Given the description of an element on the screen output the (x, y) to click on. 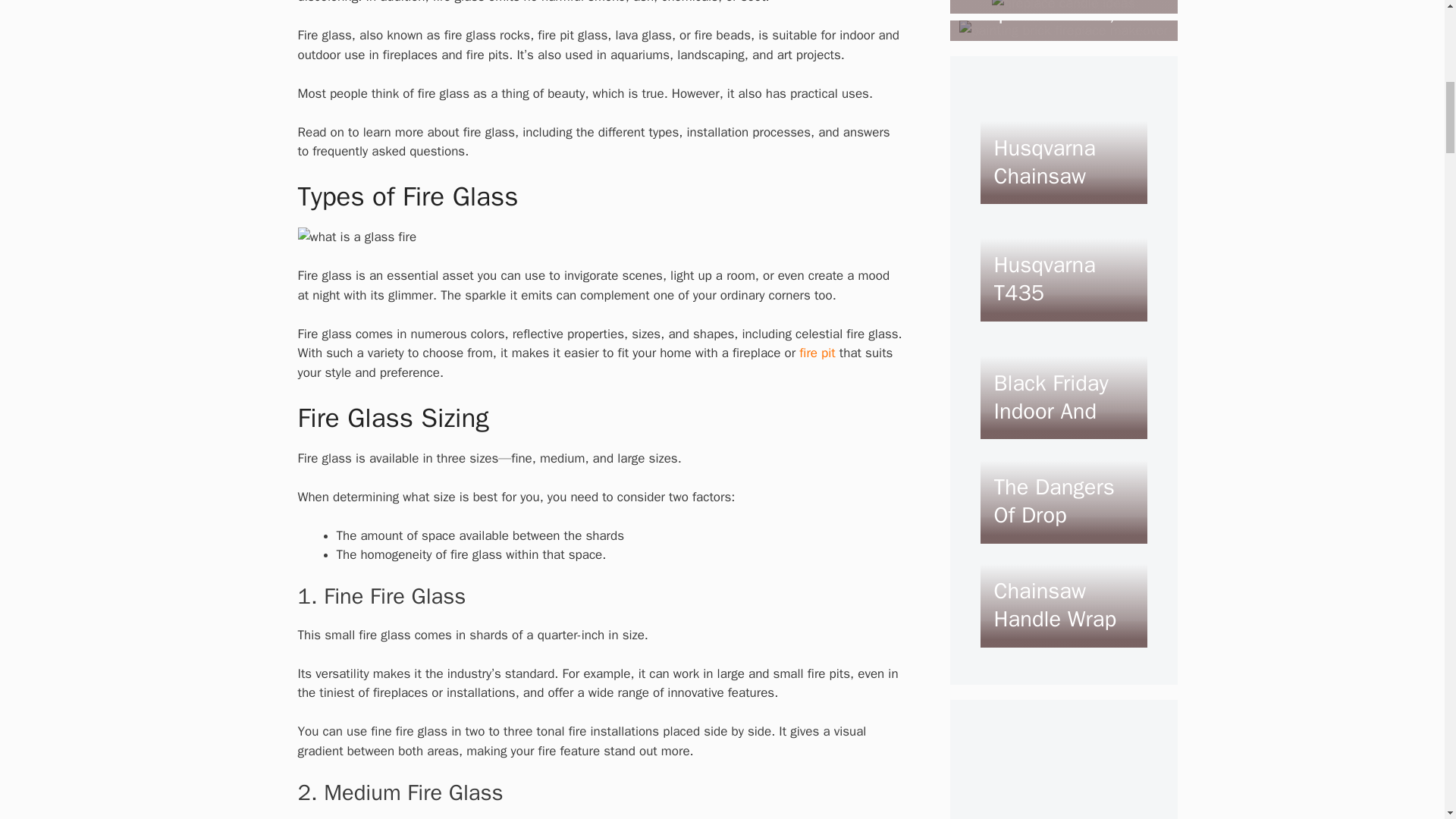
30 Tips for Using Candles Inside and Around Fireplaces (1054, 13)
20 Painted Brick Fireplace Ideas, Tips, and Best Products (1042, 40)
Fire Pit Guide: Everything You Need To Know Before Buying! (817, 352)
fire pit (817, 352)
20 Painted Brick Fireplace Ideas, Tips, and Best Products (1063, 30)
30 Tips for Using Candles Inside and Around Fireplaces (1063, 5)
25 Stunning Fireplace TV Wall Ideas, Tips, and Inspiration (1043, 13)
